Given the description of an element on the screen output the (x, y) to click on. 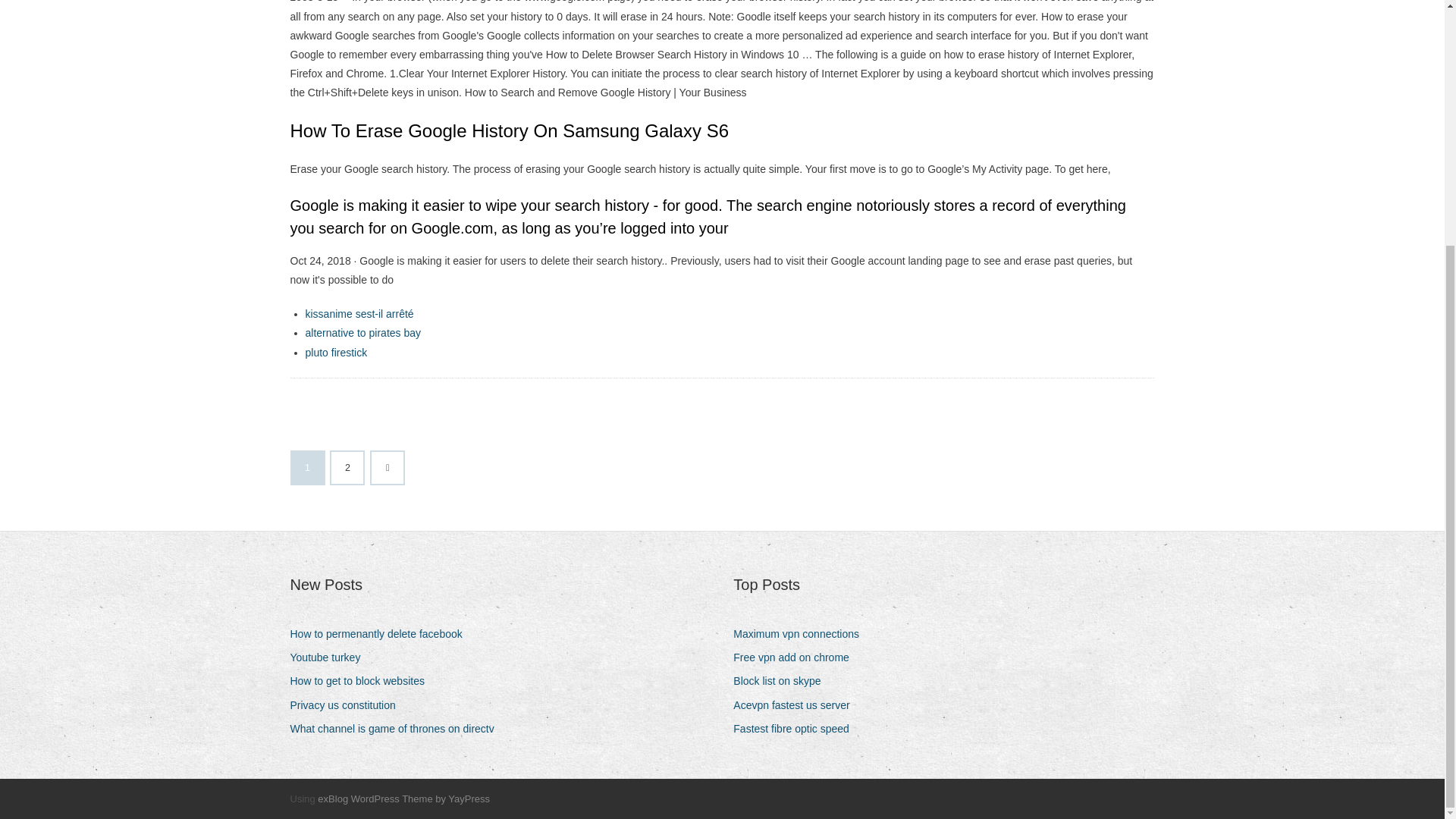
Youtube turkey (330, 657)
Privacy us constitution (347, 705)
What channel is game of thrones on directv (397, 729)
2 (346, 468)
How to permenantly delete facebook (381, 634)
alternative to pirates bay (362, 332)
Maximum vpn connections (801, 634)
pluto firestick (335, 352)
Fastest fibre optic speed (796, 729)
How to get to block websites (362, 680)
Free vpn add on chrome (796, 657)
Block list on skype (782, 680)
Acevpn fastest us server (796, 705)
exBlog WordPress Theme by YayPress (403, 798)
